Given the description of an element on the screen output the (x, y) to click on. 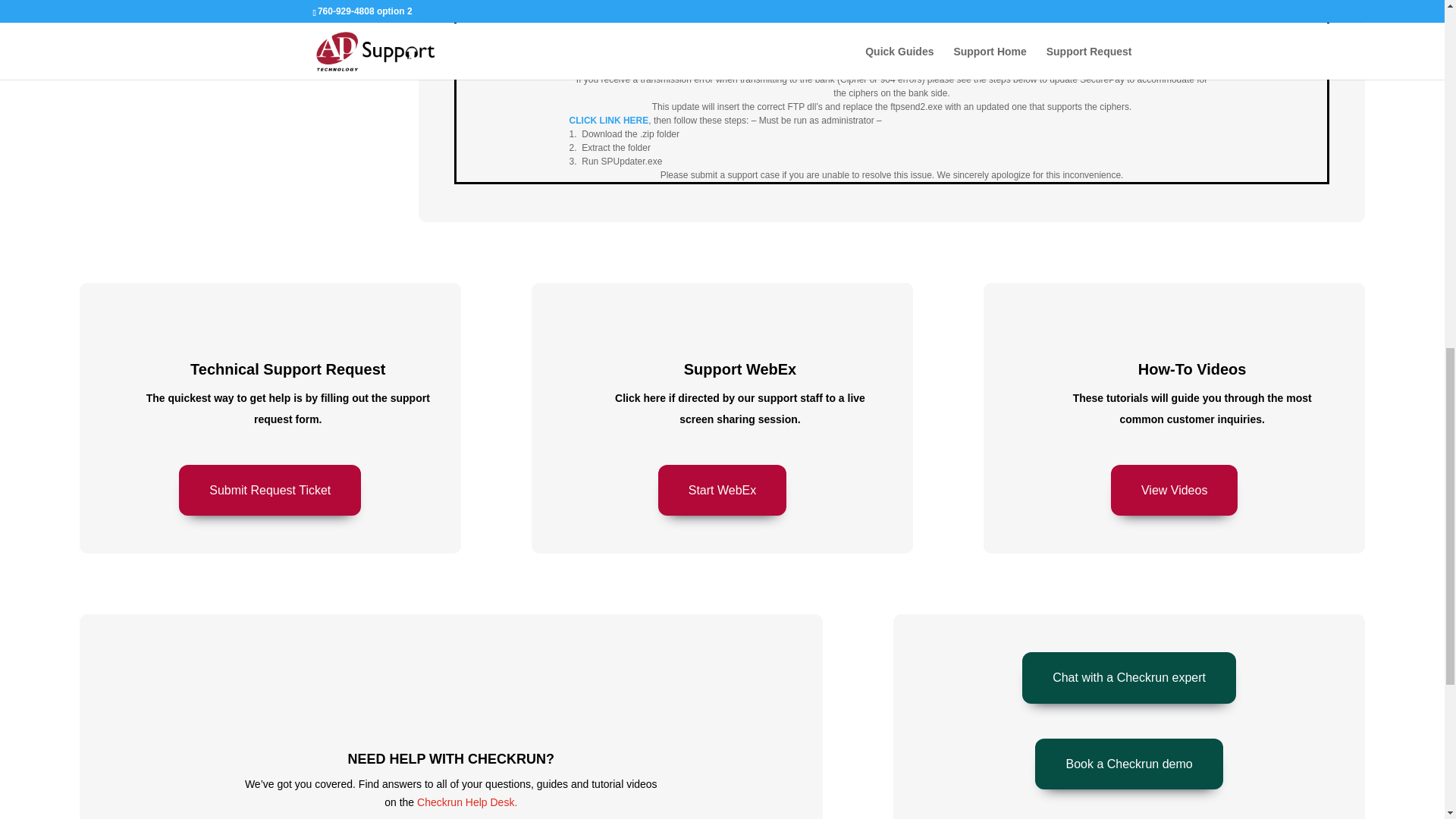
Start WebEx (722, 490)
Book a Checkrun demo (1129, 763)
Submit Request Ticket (270, 490)
Chat with a Checkrun expert (1129, 676)
View Videos (1173, 490)
CLICK LINK HERE (609, 120)
Checkrun Help Desk. (466, 802)
Checkrun Help Desk (466, 802)
